Given the description of an element on the screen output the (x, y) to click on. 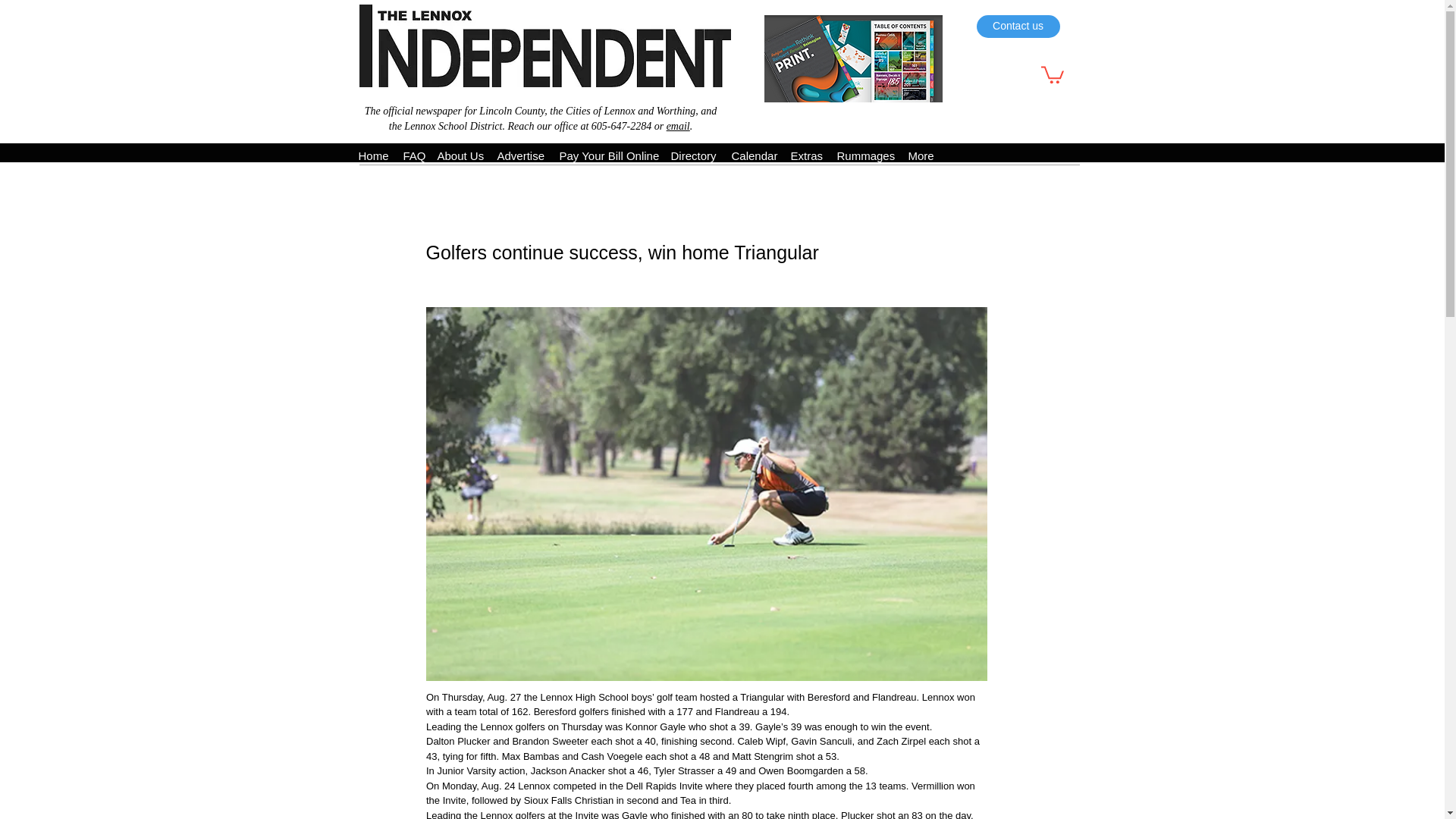
LennoxIndependent2012.jpg (544, 45)
Rummages (865, 153)
Contact us (1017, 26)
Directory (692, 153)
Advertise (520, 153)
Calendar (753, 153)
Home (372, 153)
About Us (459, 153)
FAQ (412, 153)
email (678, 125)
